Given the description of an element on the screen output the (x, y) to click on. 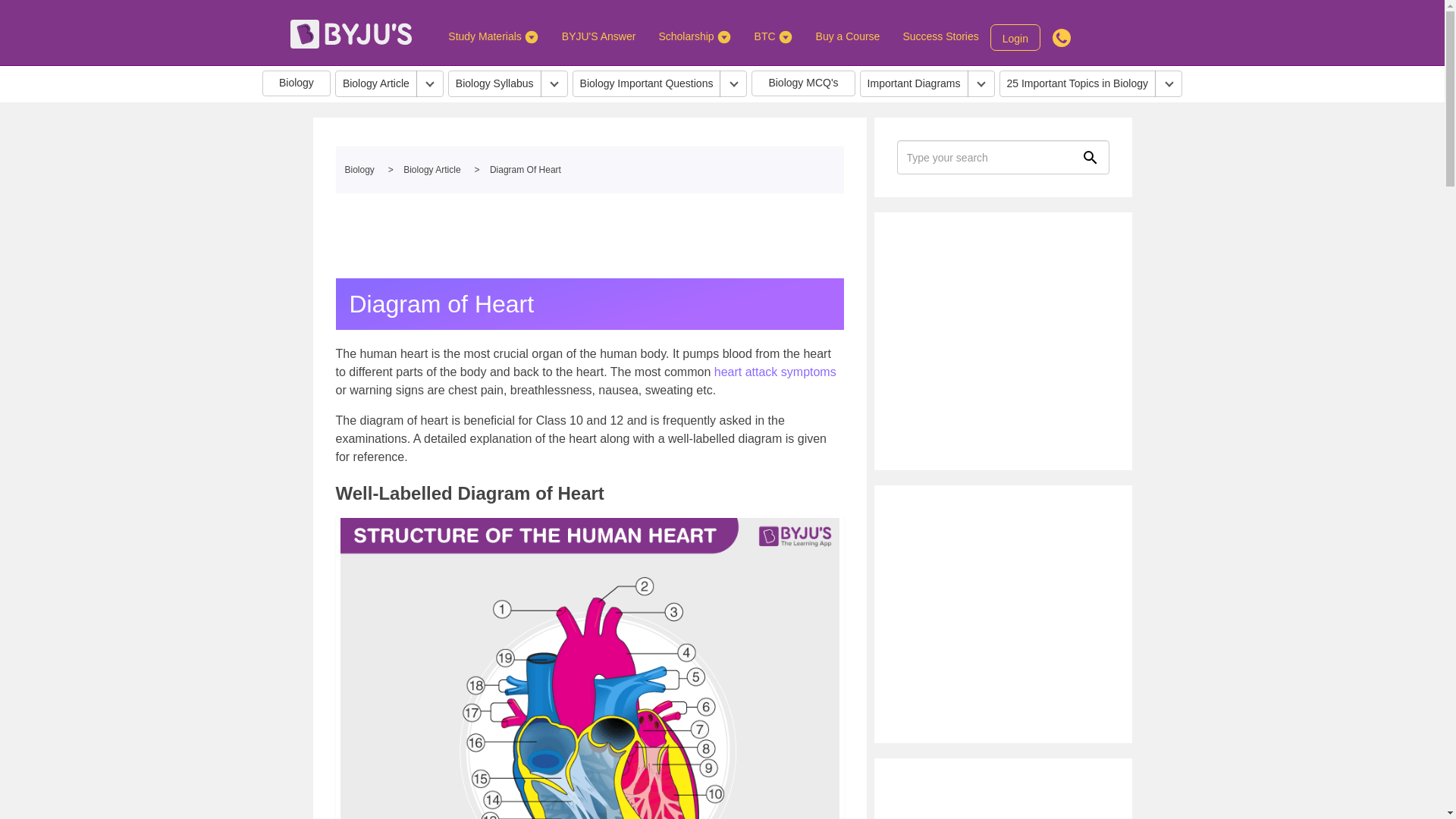
Study Materials (493, 35)
BiologyBiology ArticleDiagram Of Heart (588, 169)
